Given the description of an element on the screen output the (x, y) to click on. 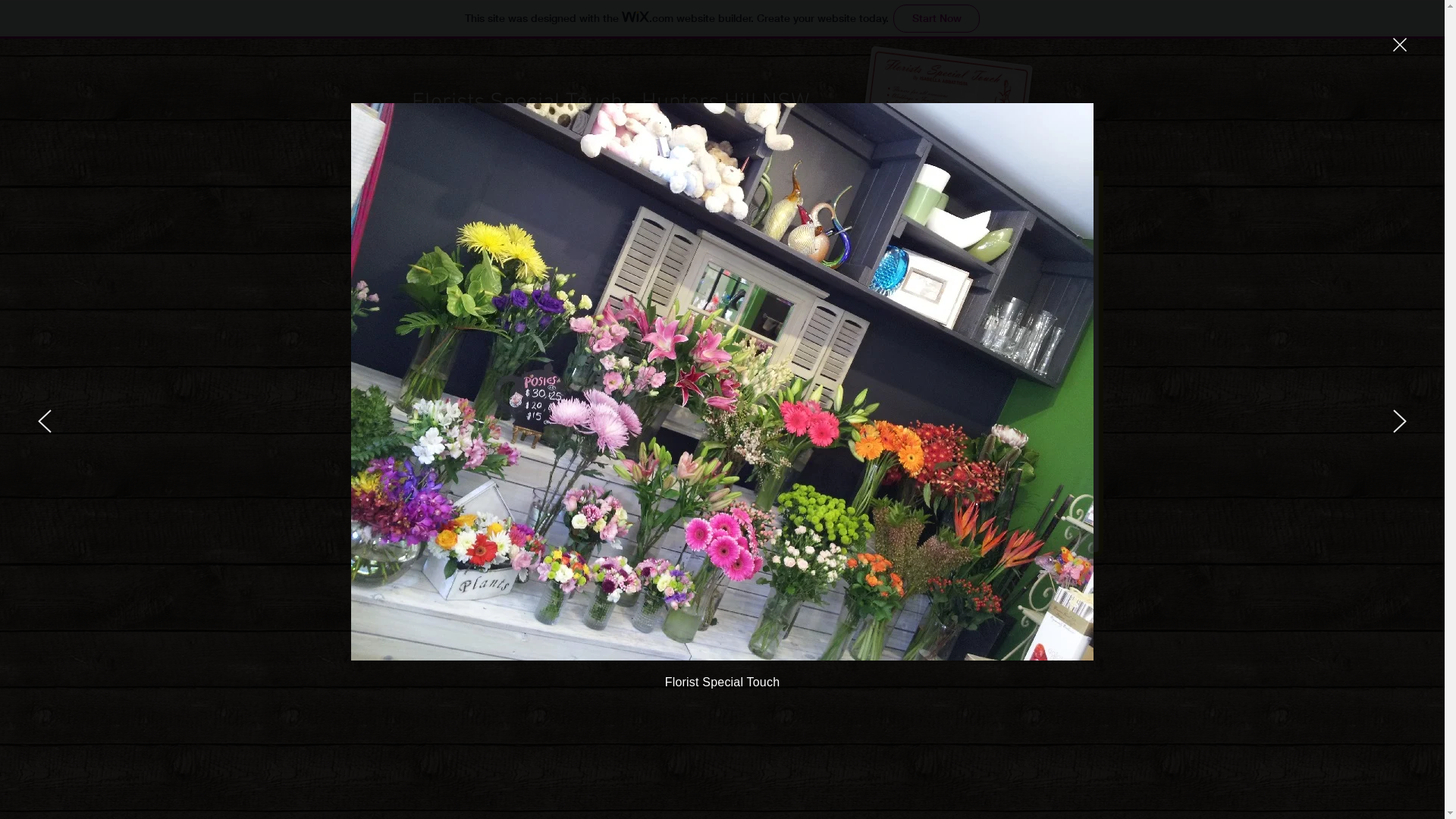
Click Here to be Taken to our New Website Element type: text (722, 255)
